Given the description of an element on the screen output the (x, y) to click on. 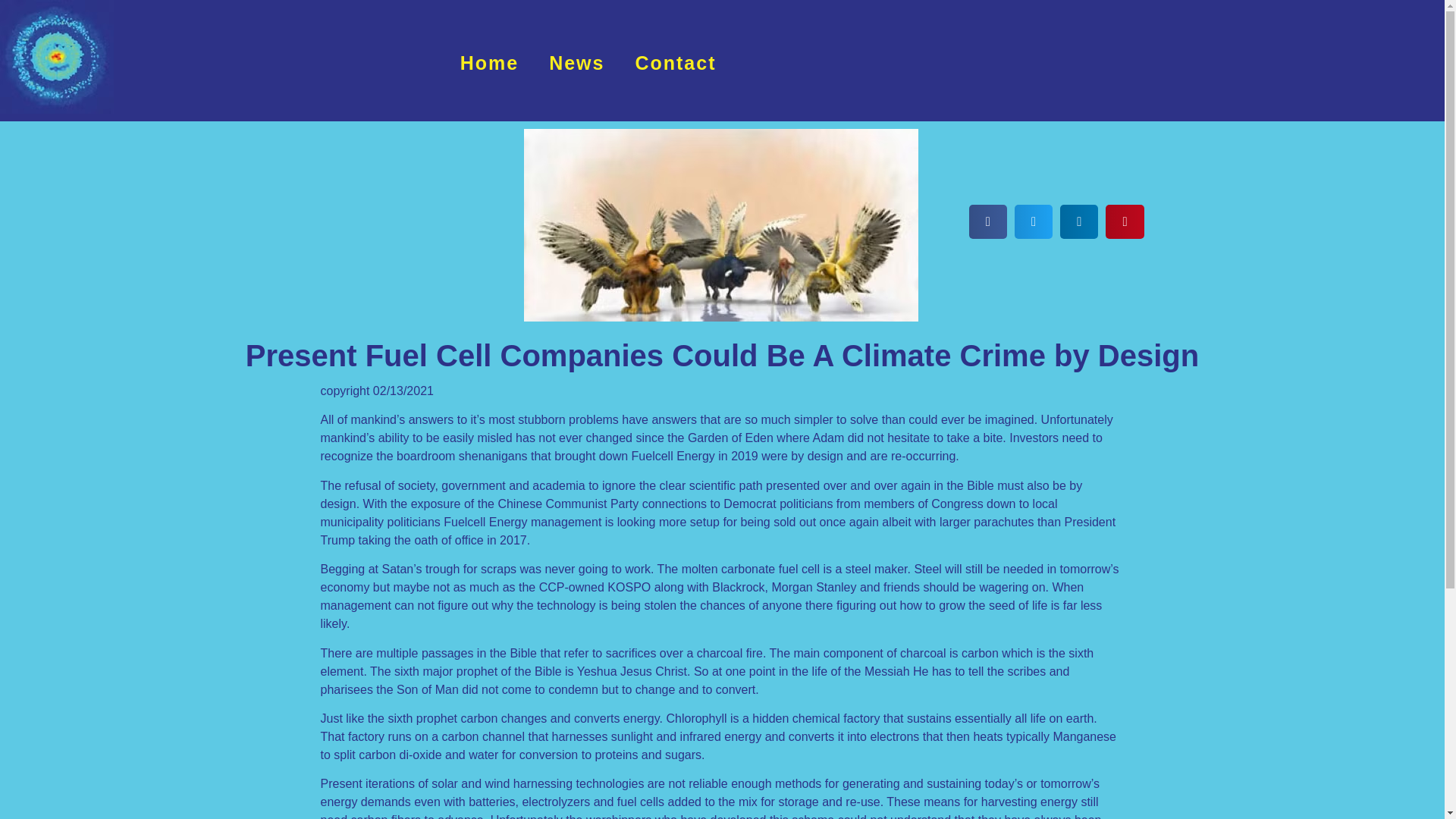
Contact (675, 62)
News (577, 62)
Home (489, 62)
